Given the description of an element on the screen output the (x, y) to click on. 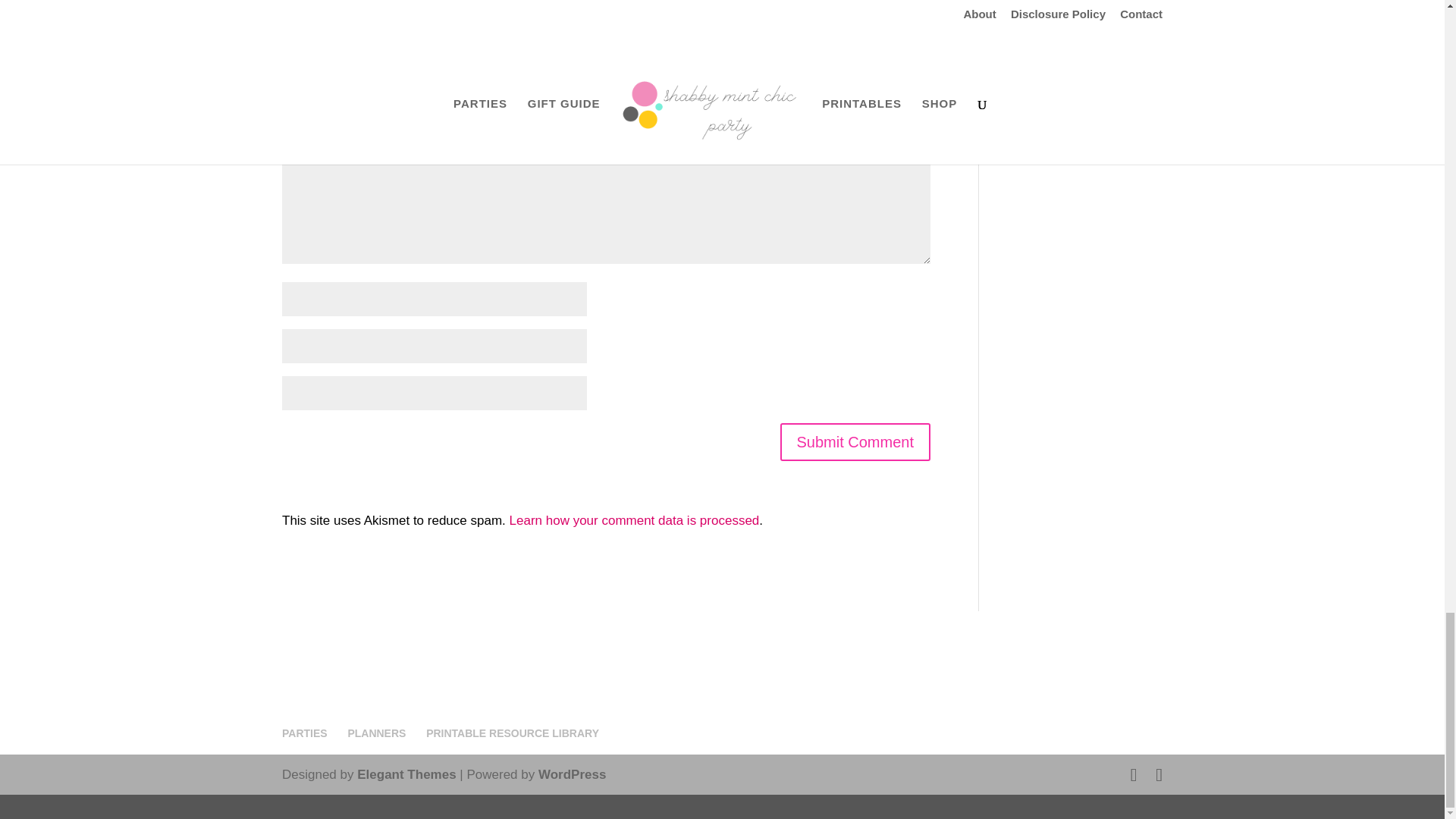
Premium WordPress Themes (405, 774)
Submit Comment (854, 442)
Submit Comment (854, 442)
